Given the description of an element on the screen output the (x, y) to click on. 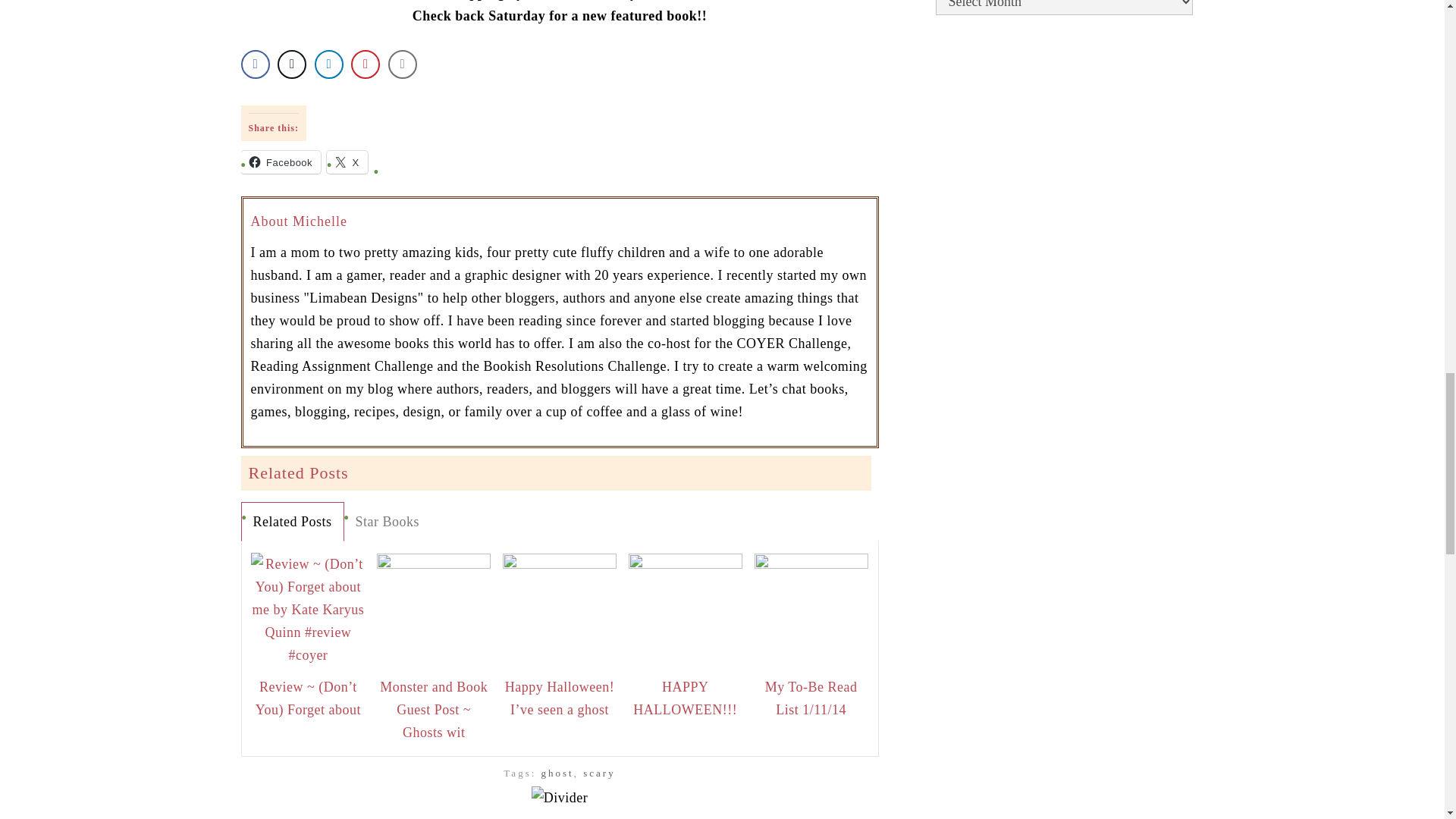
Click to share on Facebook (281, 161)
Facebook (281, 161)
Star Books (386, 521)
Click to share on X (347, 161)
Related Posts (291, 521)
X (347, 161)
